Given the description of an element on the screen output the (x, y) to click on. 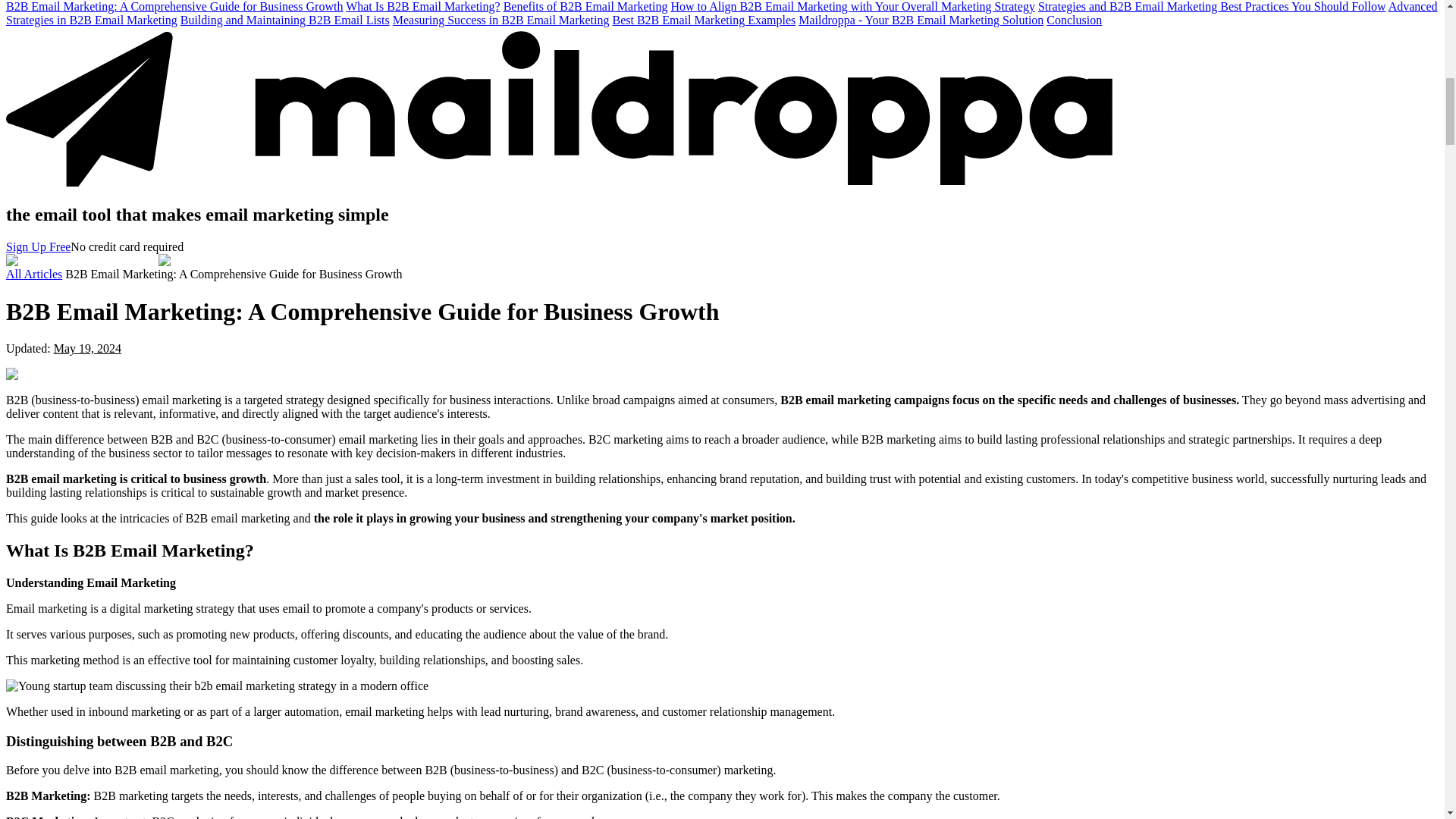
All Articles (33, 273)
Measuring Success in B2B Email Marketing (501, 19)
What Is B2B Email Marketing? (423, 6)
Conclusion (1074, 19)
Benefits of B2B Email Marketing (585, 6)
Building and Maintaining B2B Email Lists (285, 19)
Best B2B Email Marketing Examples (702, 19)
Sign Up Free (37, 246)
Maildroppa - Your B2B Email Marketing Solution (920, 19)
